Given the description of an element on the screen output the (x, y) to click on. 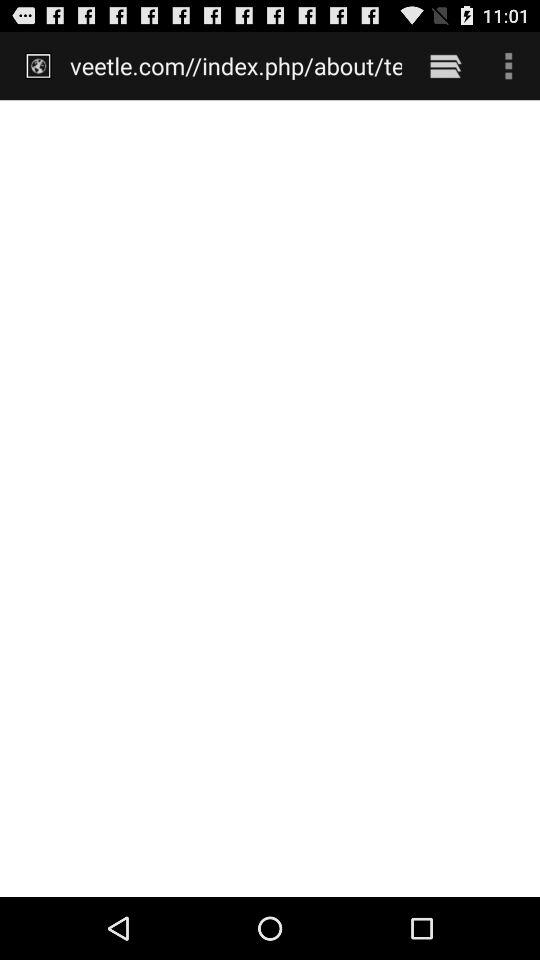
turn off the item at the top (235, 65)
